Given the description of an element on the screen output the (x, y) to click on. 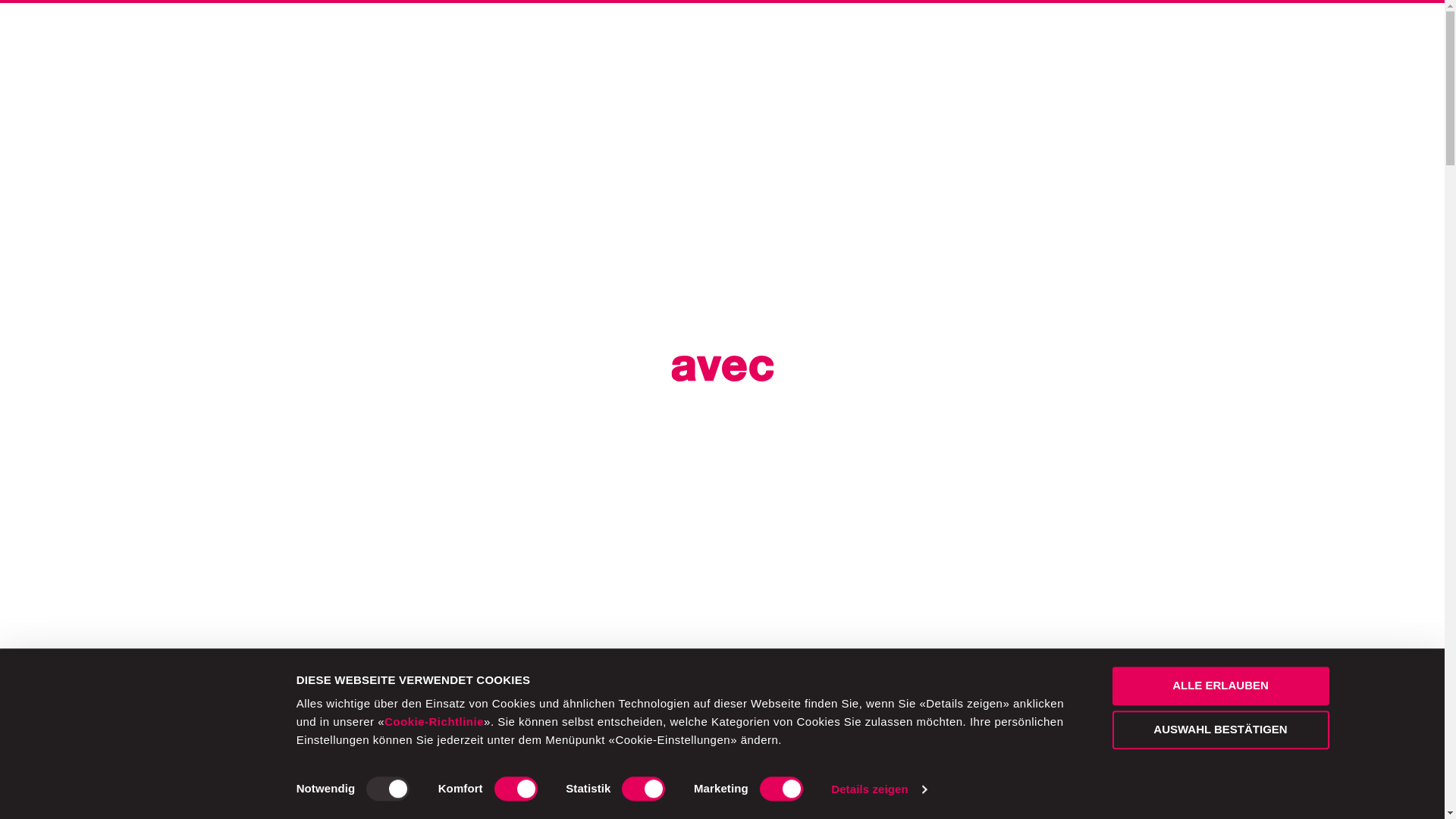
Details zeigen Element type: text (878, 789)
D'ICI Element type: text (566, 52)
BONUS-APP Element type: text (848, 52)
OFFRE Element type: text (640, 52)
Cookie-Richtlinie Element type: text (433, 721)
FR Element type: text (1295, 52)
ALLE ERLAUBEN Element type: text (1219, 685)
AVEC 24/7 Element type: text (734, 52)
